Given the description of an element on the screen output the (x, y) to click on. 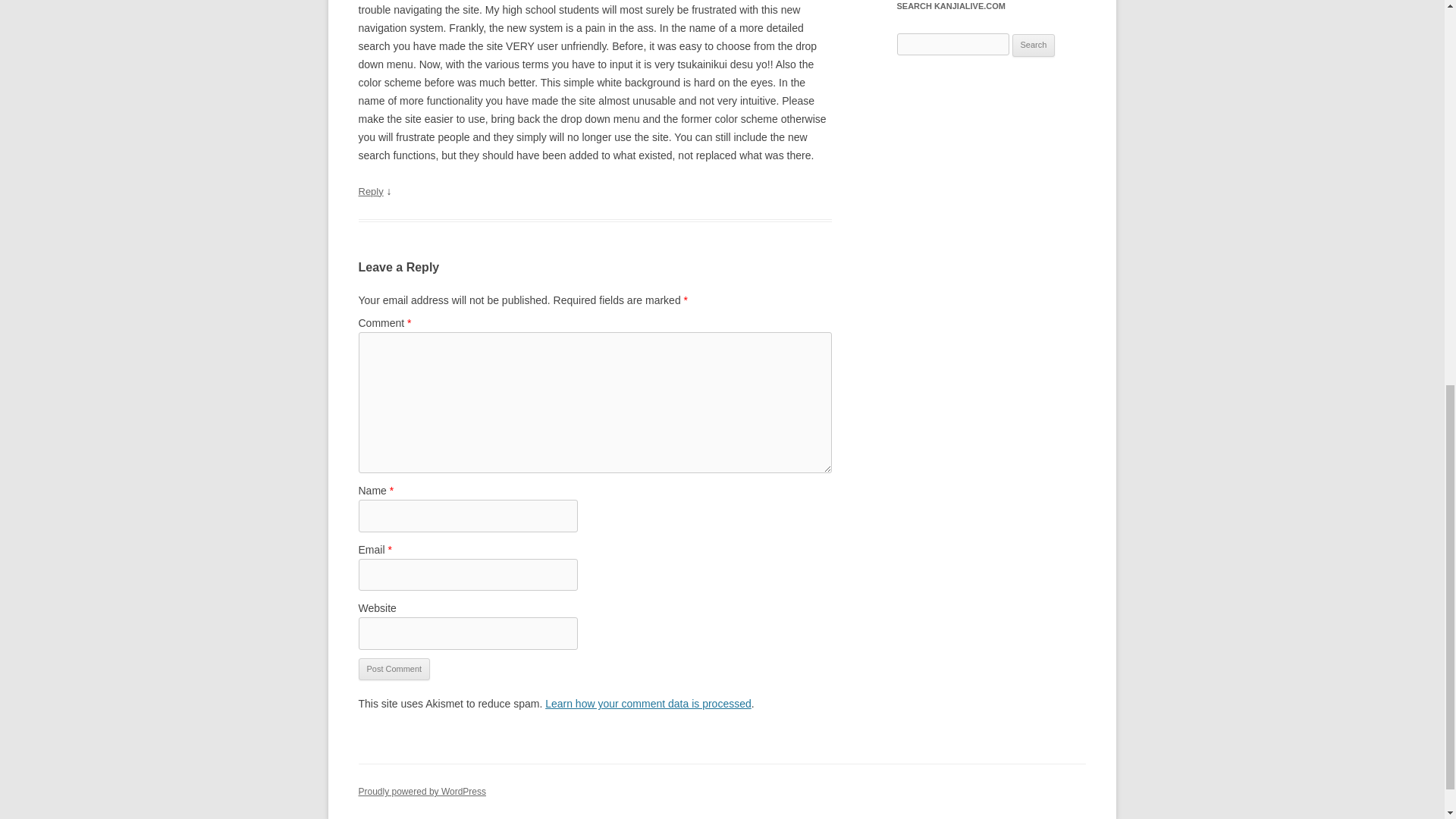
Post Comment (393, 669)
Post Comment (393, 669)
Reply (370, 191)
Semantic Personal Publishing Platform (422, 791)
Search (1033, 45)
Learn how your comment data is processed (647, 703)
